Given the description of an element on the screen output the (x, y) to click on. 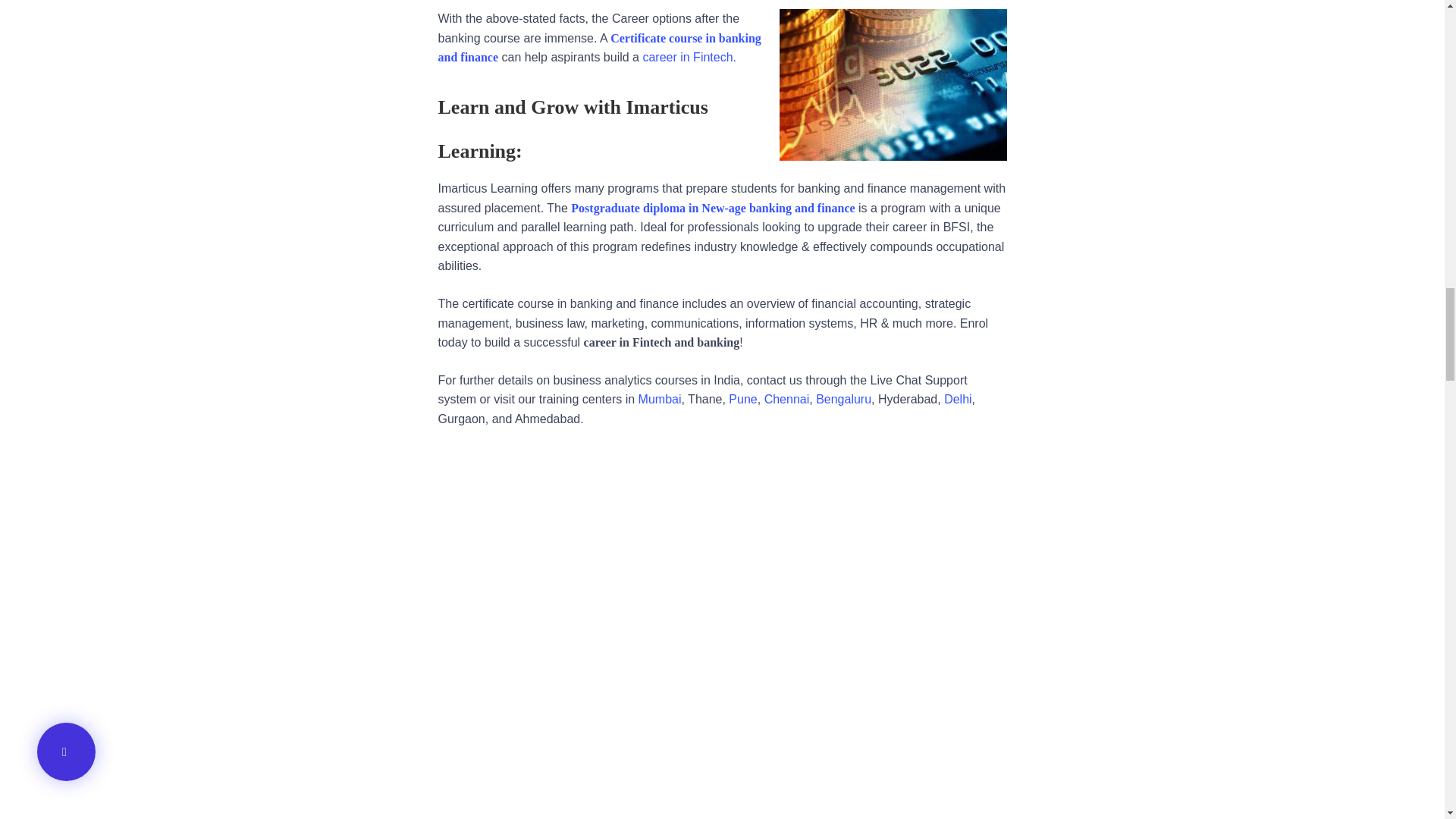
Mumbai (660, 399)
Delhi (957, 399)
Certificate course in banking and finance (599, 47)
Bengaluru (842, 399)
Postgraduate diploma in New-age banking and finance (712, 207)
career in Fintech. (689, 56)
Pune (743, 399)
Chennai (786, 399)
